Given the description of an element on the screen output the (x, y) to click on. 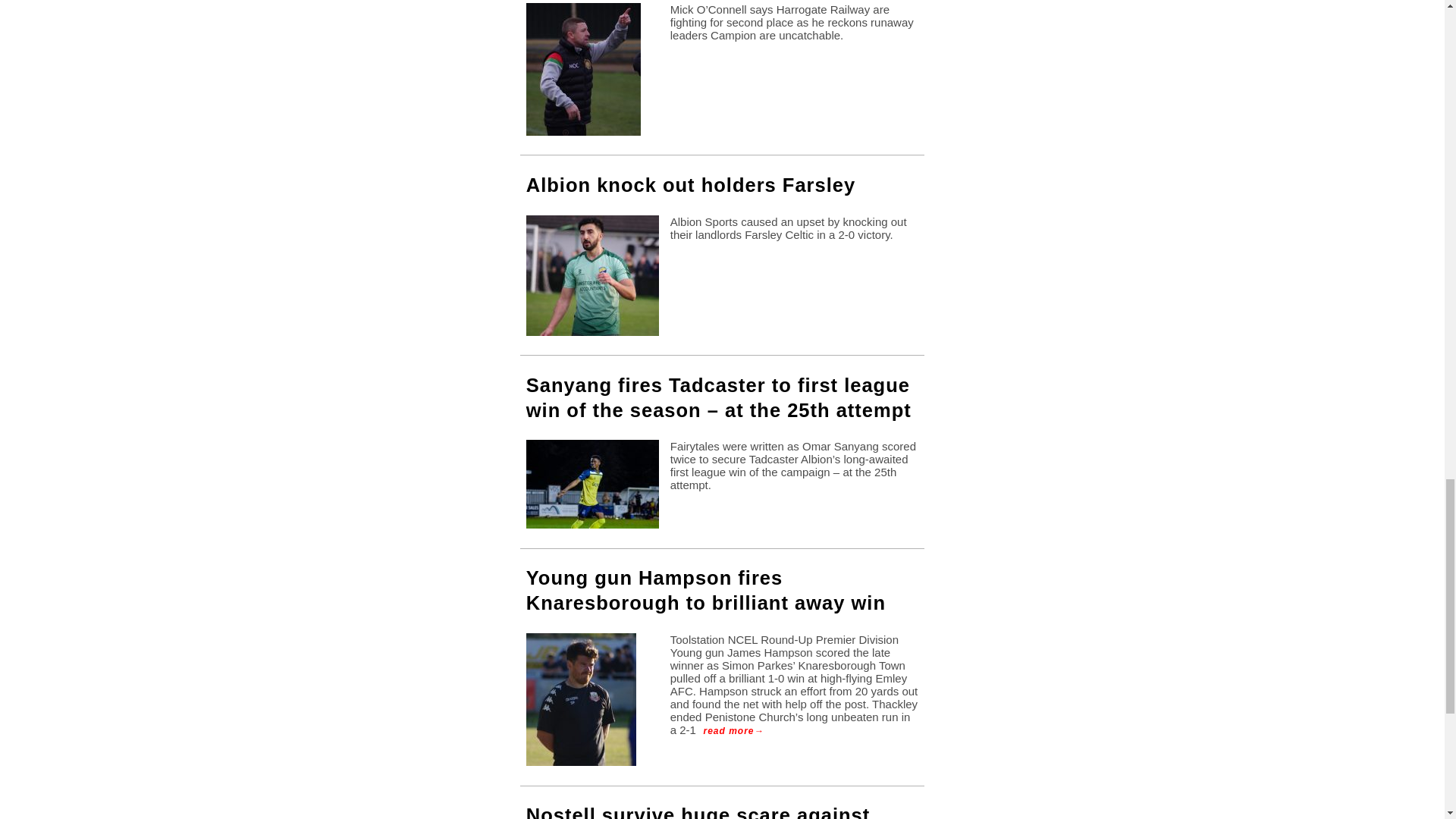
Albion knock out holders Farsley (690, 184)
Nostell survive huge scare against Wombwell Town (697, 811)
Young gun Hampson fires Knaresborough to brilliant away win (705, 590)
